Given the description of an element on the screen output the (x, y) to click on. 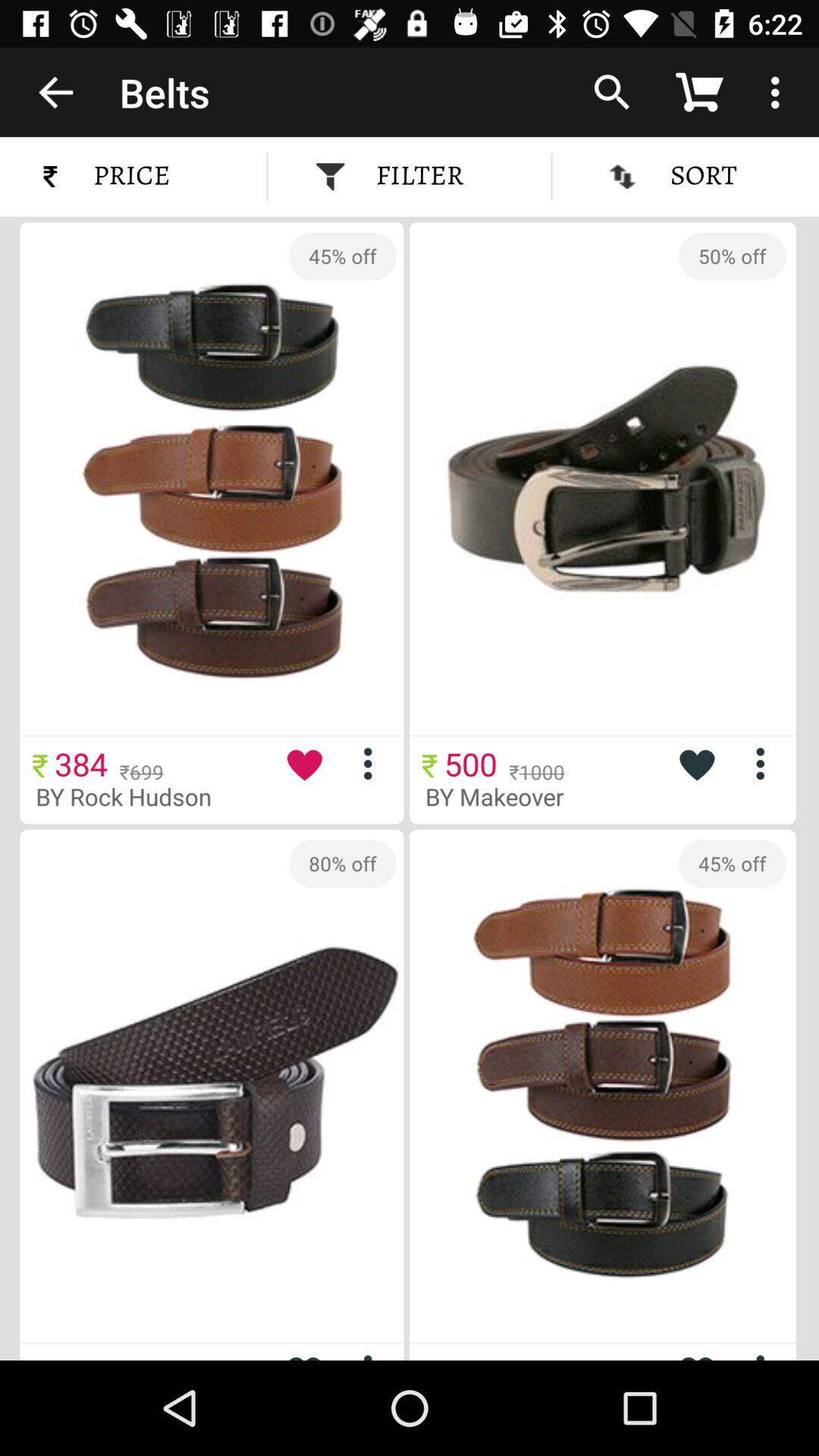
customer can select to indicate if they like the item (696, 763)
